Given the description of an element on the screen output the (x, y) to click on. 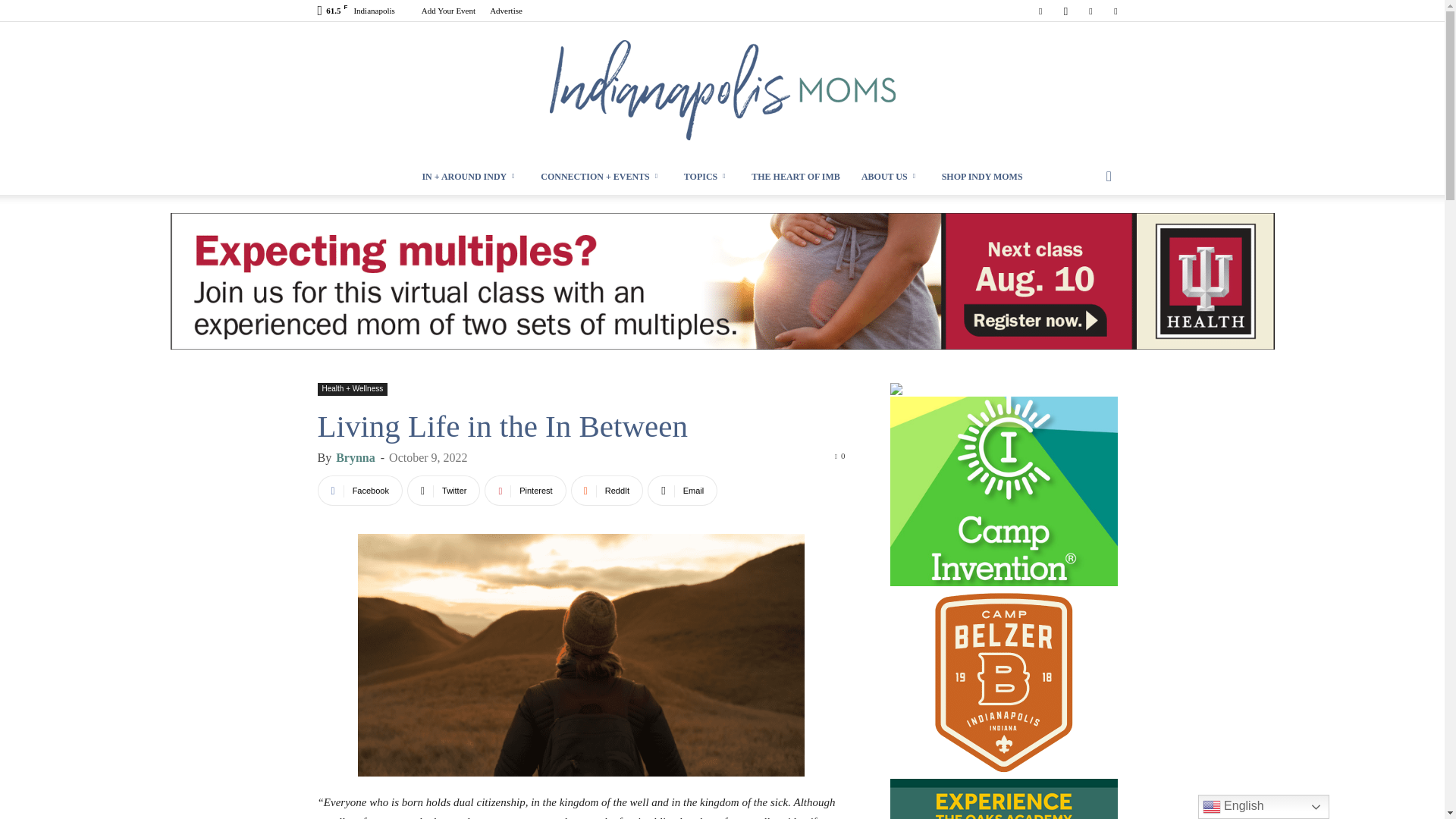
Advertise (505, 10)
Email (682, 490)
Pinterest (525, 490)
Indianapolis Moms (721, 90)
Facebook (359, 490)
ReddIt (606, 490)
Twitter (1114, 10)
Twitter (443, 490)
Instagram (1065, 10)
Facebook (1040, 10)
Add Your Event (449, 10)
Pinterest (1090, 10)
